Given the description of an element on the screen output the (x, y) to click on. 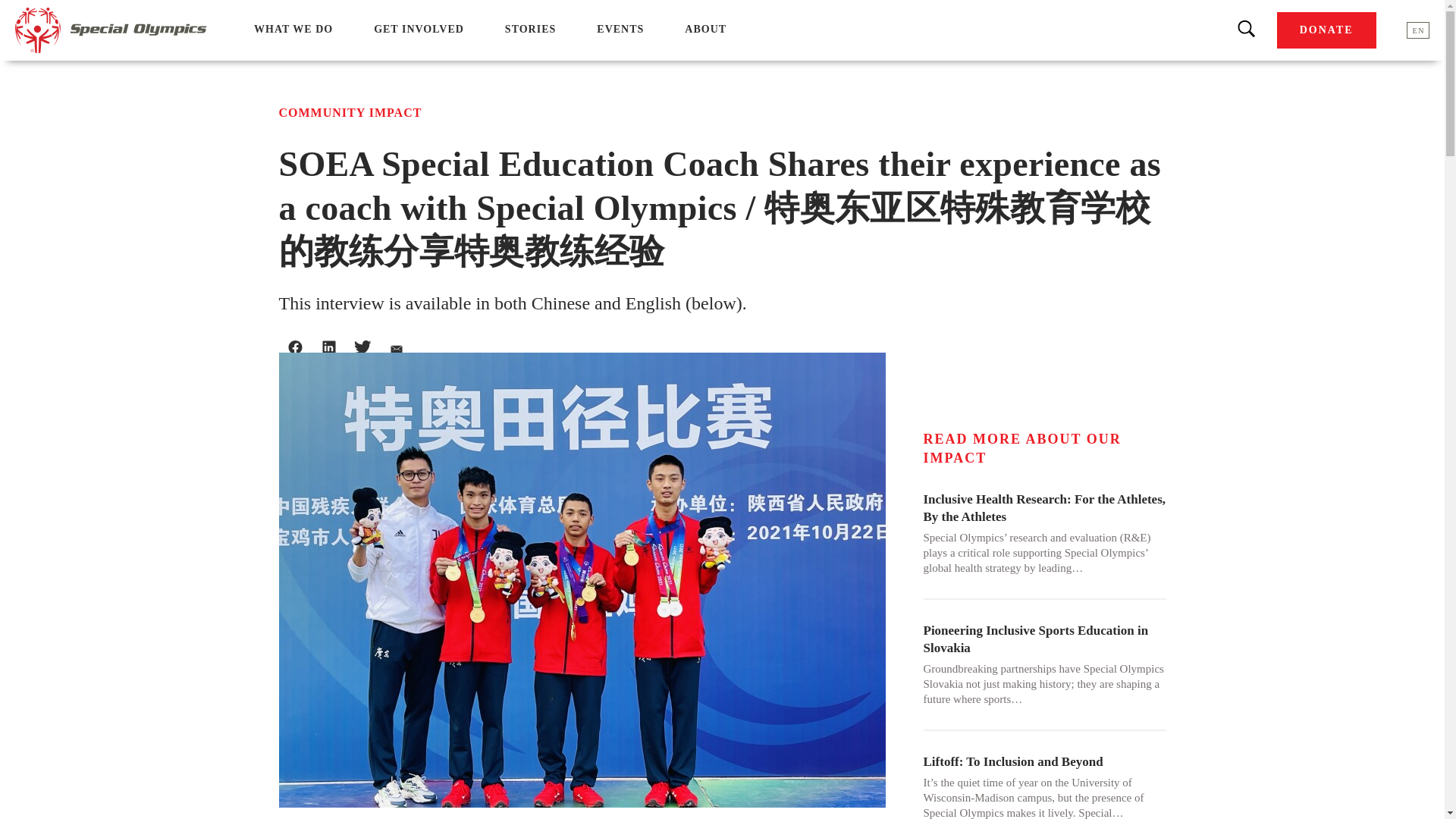
EVENTS (619, 29)
WHAT WE DO (293, 29)
STORIES (530, 29)
GET INVOLVED (419, 29)
